Given the description of an element on the screen output the (x, y) to click on. 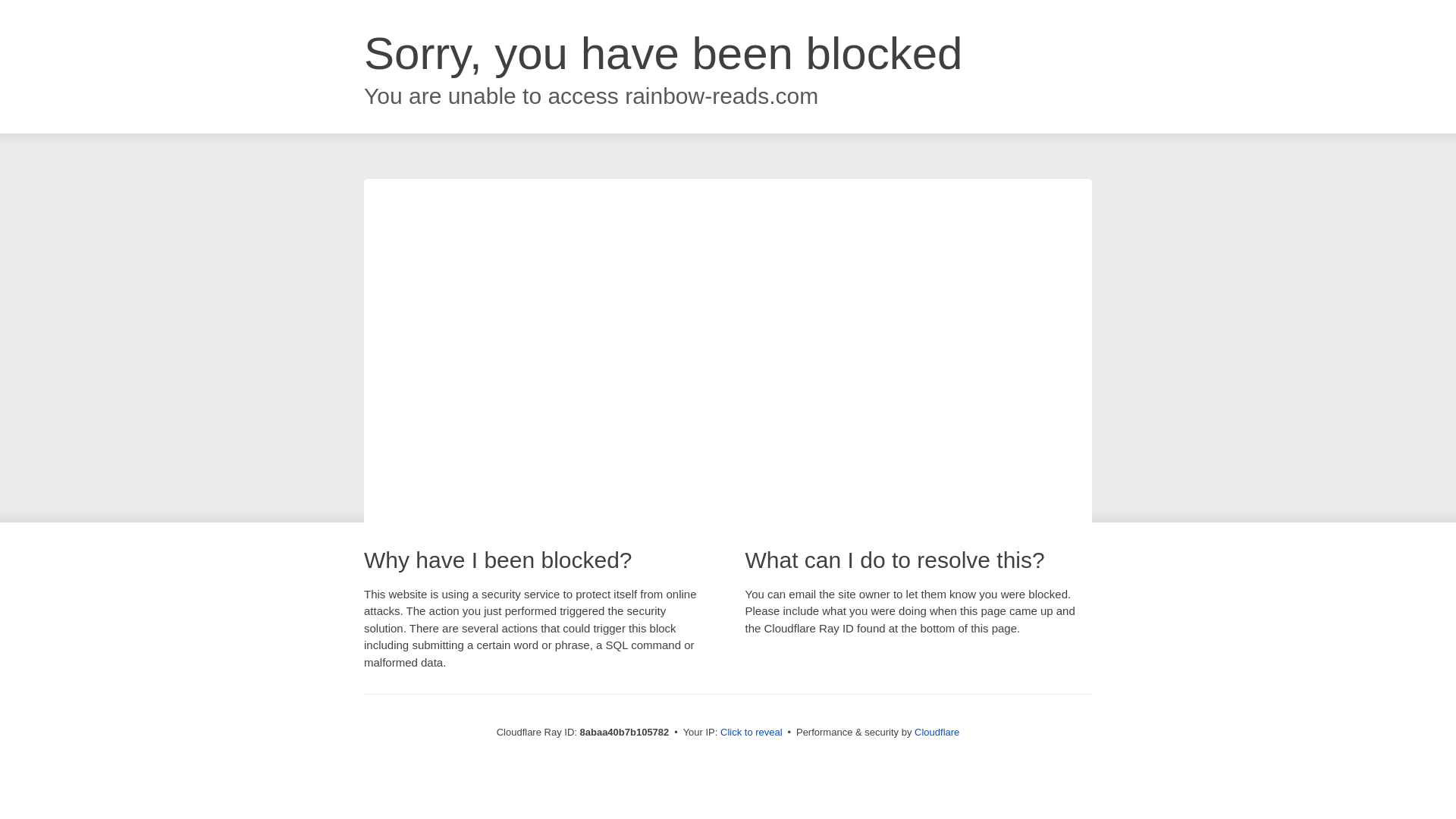
Cloudflare (936, 731)
Click to reveal (751, 732)
